Given the description of an element on the screen output the (x, y) to click on. 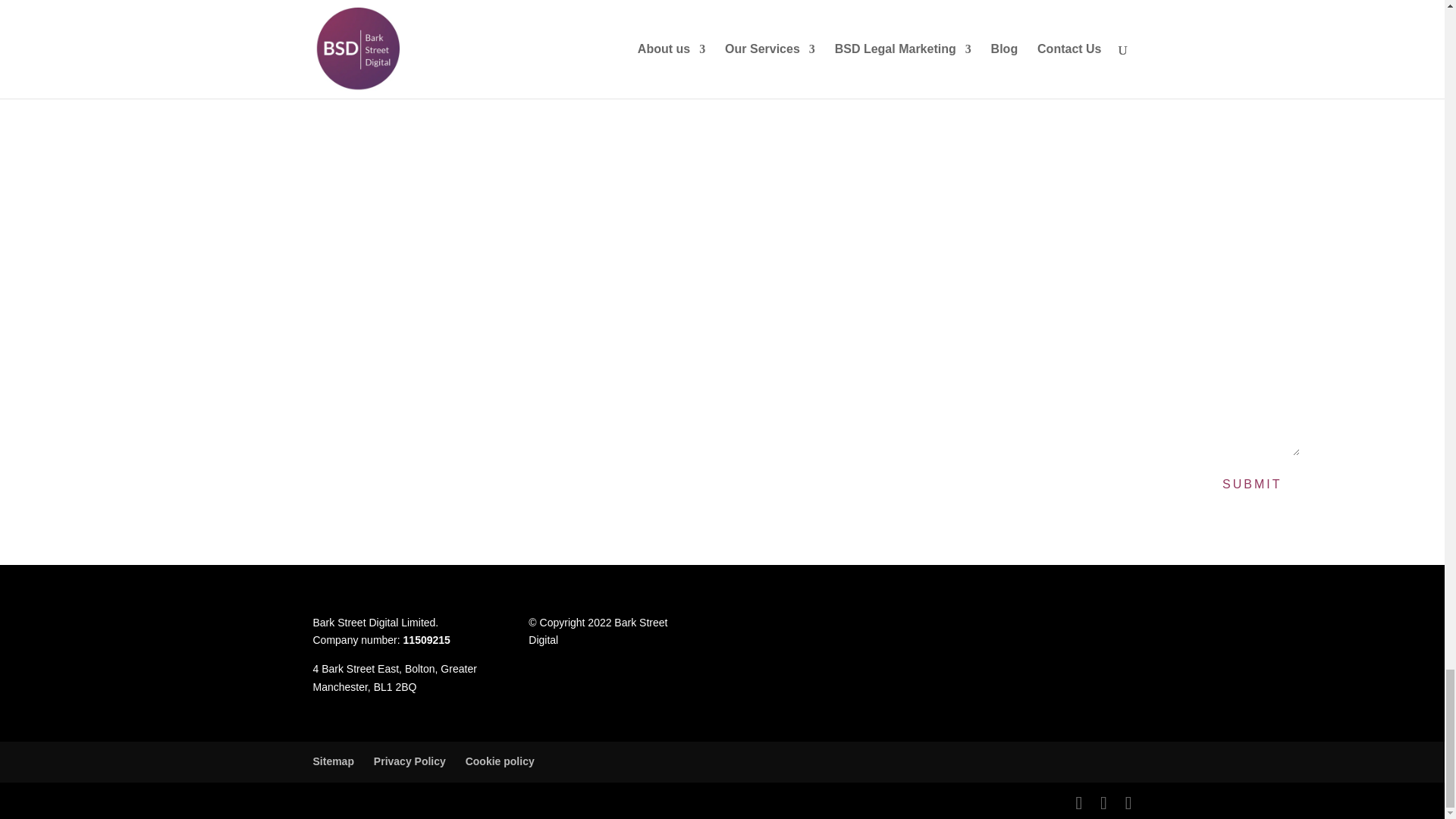
Cookie policy (499, 761)
SUBMIT (1252, 484)
Sitemap (333, 761)
Privacy Policy (409, 761)
